Given the description of an element on the screen output the (x, y) to click on. 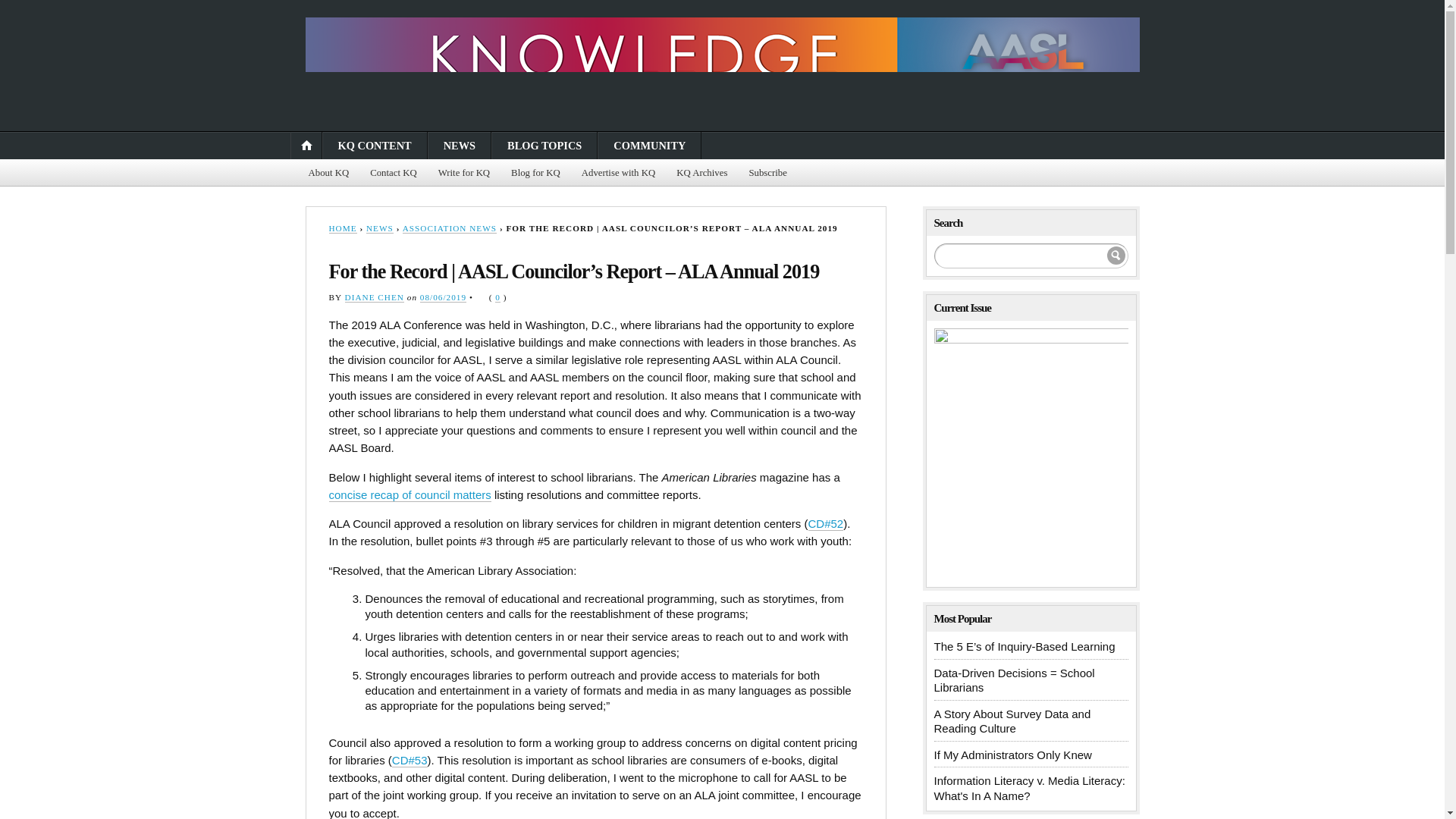
Advertise with KQ (617, 172)
8:00 am (442, 297)
Blog for KQ (535, 172)
NEWS (379, 228)
Subscribe (767, 172)
HOME (306, 144)
NEWS (459, 144)
HOME (342, 228)
ASSOCIATION NEWS (449, 228)
DIANE CHEN (374, 297)
Contact KQ (393, 172)
About KQ (328, 172)
Write for KQ (464, 172)
KQ Archives (701, 172)
View all posts by Diane Chen (374, 297)
